Given the description of an element on the screen output the (x, y) to click on. 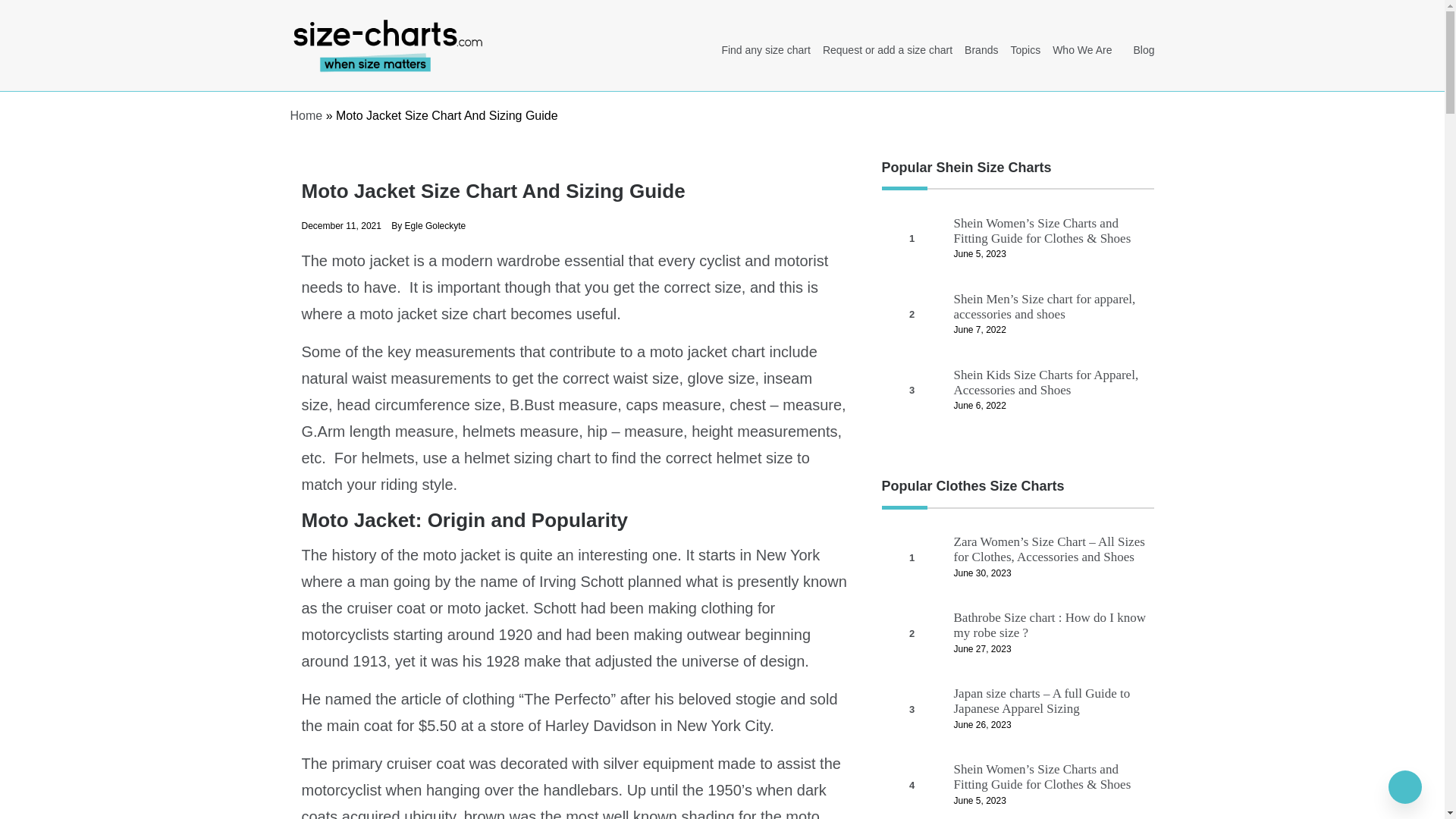
Home (305, 115)
Find any size chart (765, 41)
Bathrobe Size chart : How do I know my robe size ? (1050, 624)
Go to Top (1405, 786)
Egle Goleckyte (434, 225)
Shein Kids Size Charts for Apparel, Accessories and Shoes (1045, 382)
Request or add a size chart (887, 41)
December 11, 2021 (341, 225)
